Given the description of an element on the screen output the (x, y) to click on. 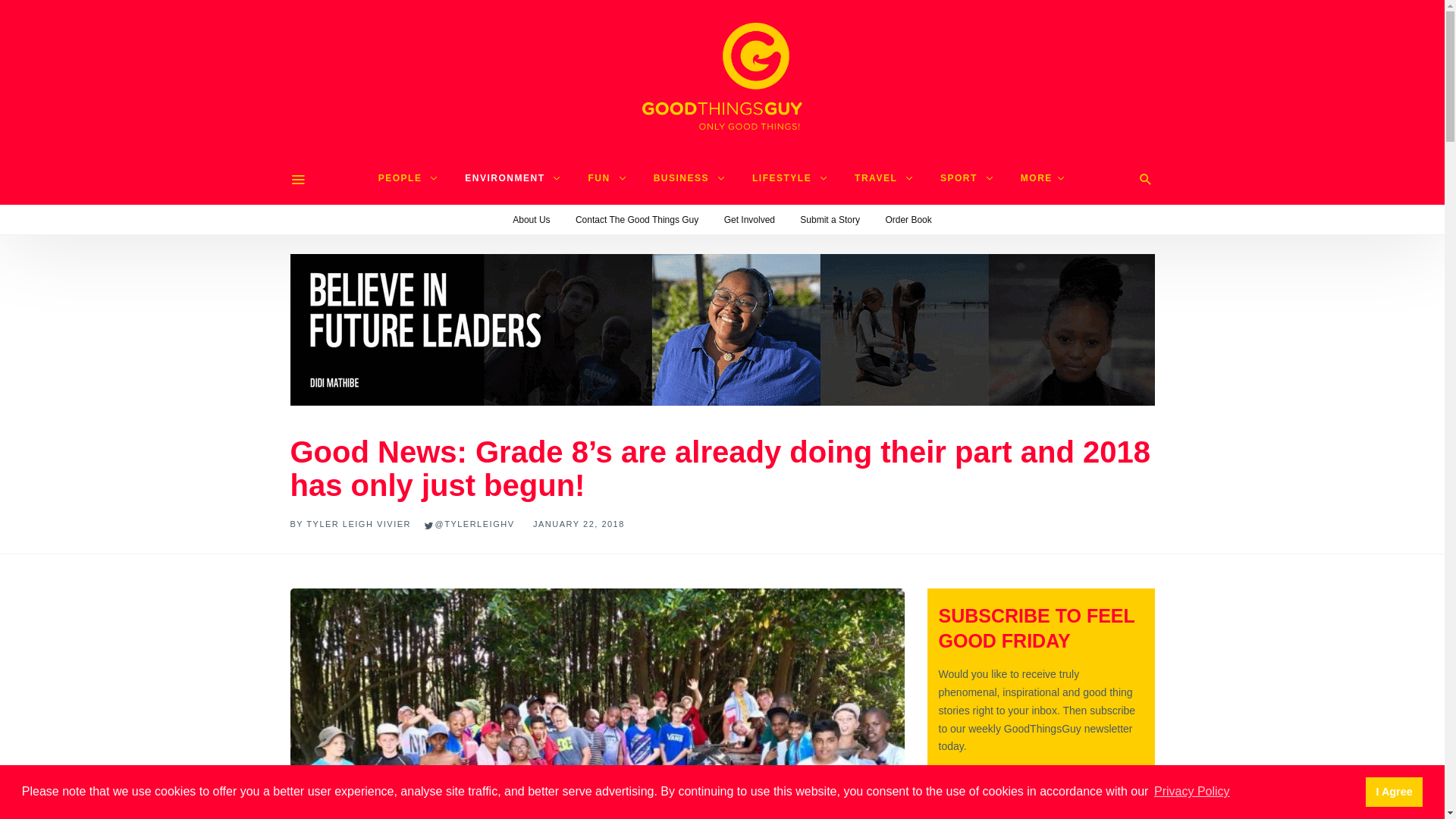
Contact The Good Things Guy (637, 219)
TRAVEL (884, 177)
Order Book (907, 219)
Get Involved (749, 219)
MORE (1043, 177)
About Us (530, 219)
LIFESTYLE (791, 177)
SPORT (967, 177)
Submit a Story (829, 219)
FUN (607, 177)
ENVIRONMENT (512, 177)
PEOPLE (408, 177)
BUSINESS (690, 177)
